Given the description of an element on the screen output the (x, y) to click on. 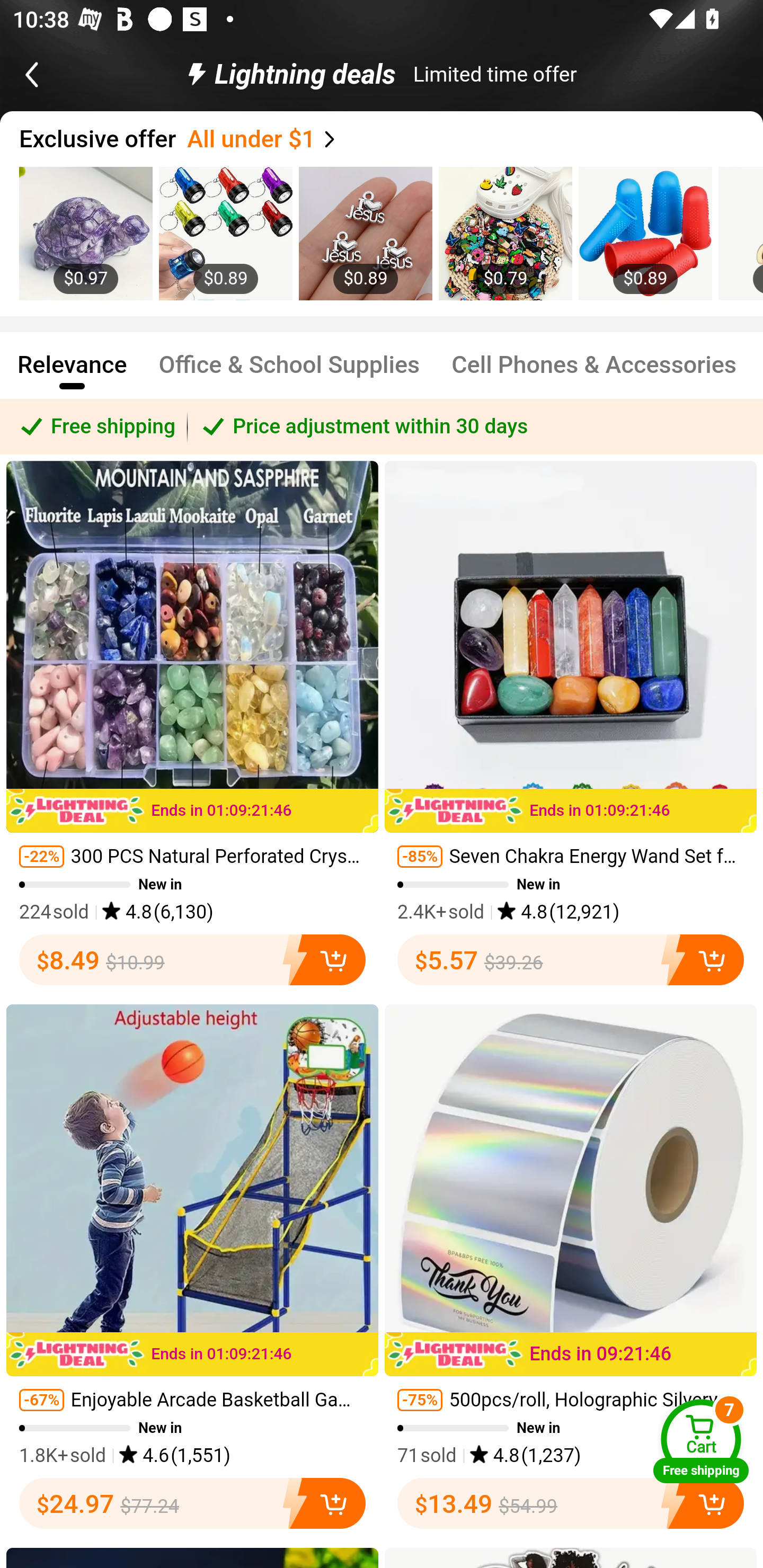
Exclusive offer All under $1 (391, 138)
Relevance (72, 373)
Office & School Supplies (289, 373)
Cell Phones & Accessories (594, 373)
Free shipping (94, 426)
Price adjustment within 30 days (475, 426)
$8.49 $10.99 (192, 959)
$5.57 $39.26 (570, 959)
Cart Free shipping Cart (701, 1440)
$24.97 $77.24 (192, 1503)
$13.49 $54.99 (570, 1503)
